Given the description of an element on the screen output the (x, y) to click on. 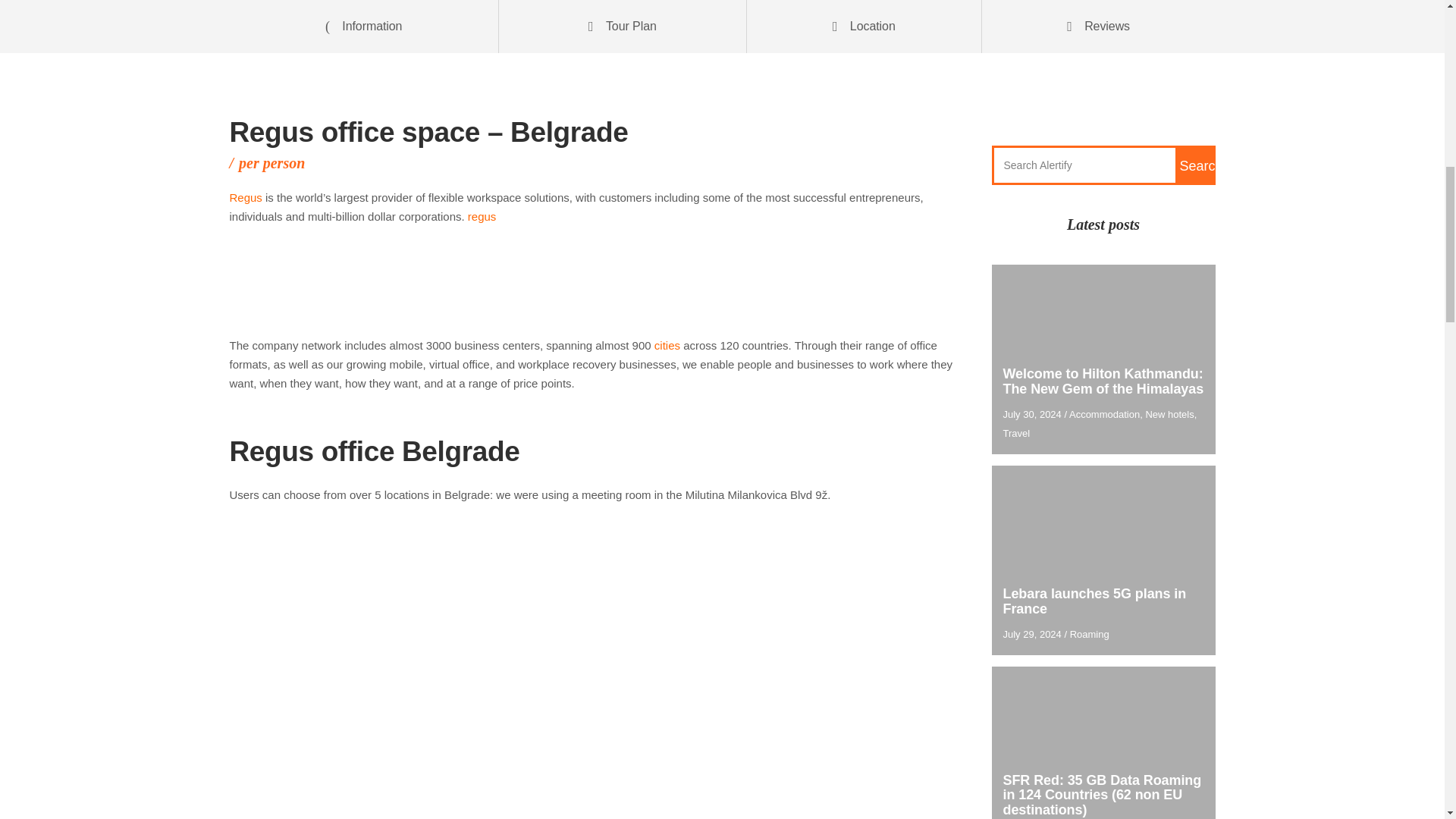
Roaming (1089, 633)
Accommodation (1104, 414)
Travel (1016, 432)
New hotels (1168, 414)
regus (481, 215)
